Given the description of an element on the screen output the (x, y) to click on. 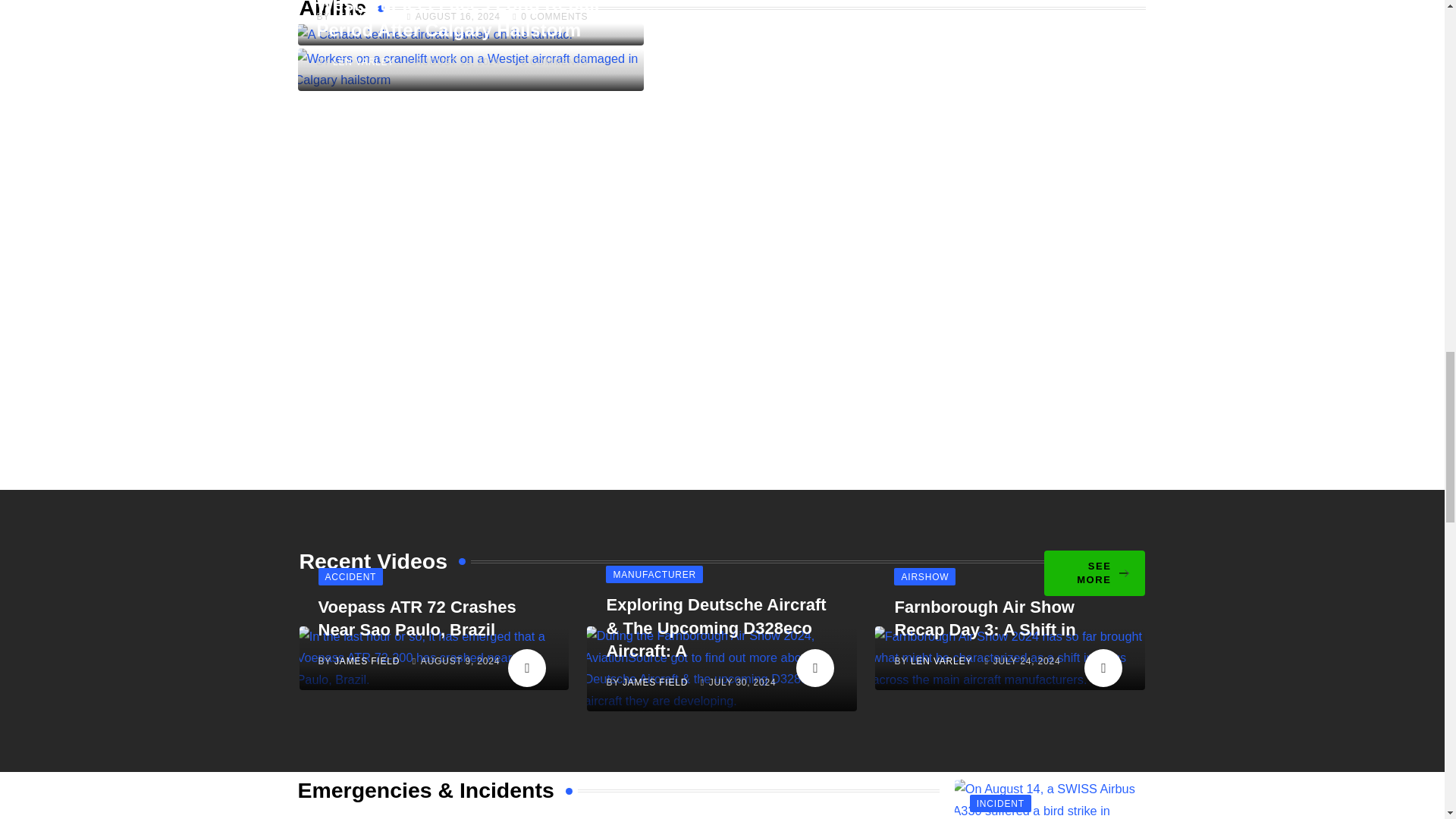
Posts by Len Varley (363, 16)
Posts by James Field (366, 661)
Posts by Len Varley (941, 661)
Posts by Len Varley (363, 61)
Posts by James Field (655, 682)
